Given the description of an element on the screen output the (x, y) to click on. 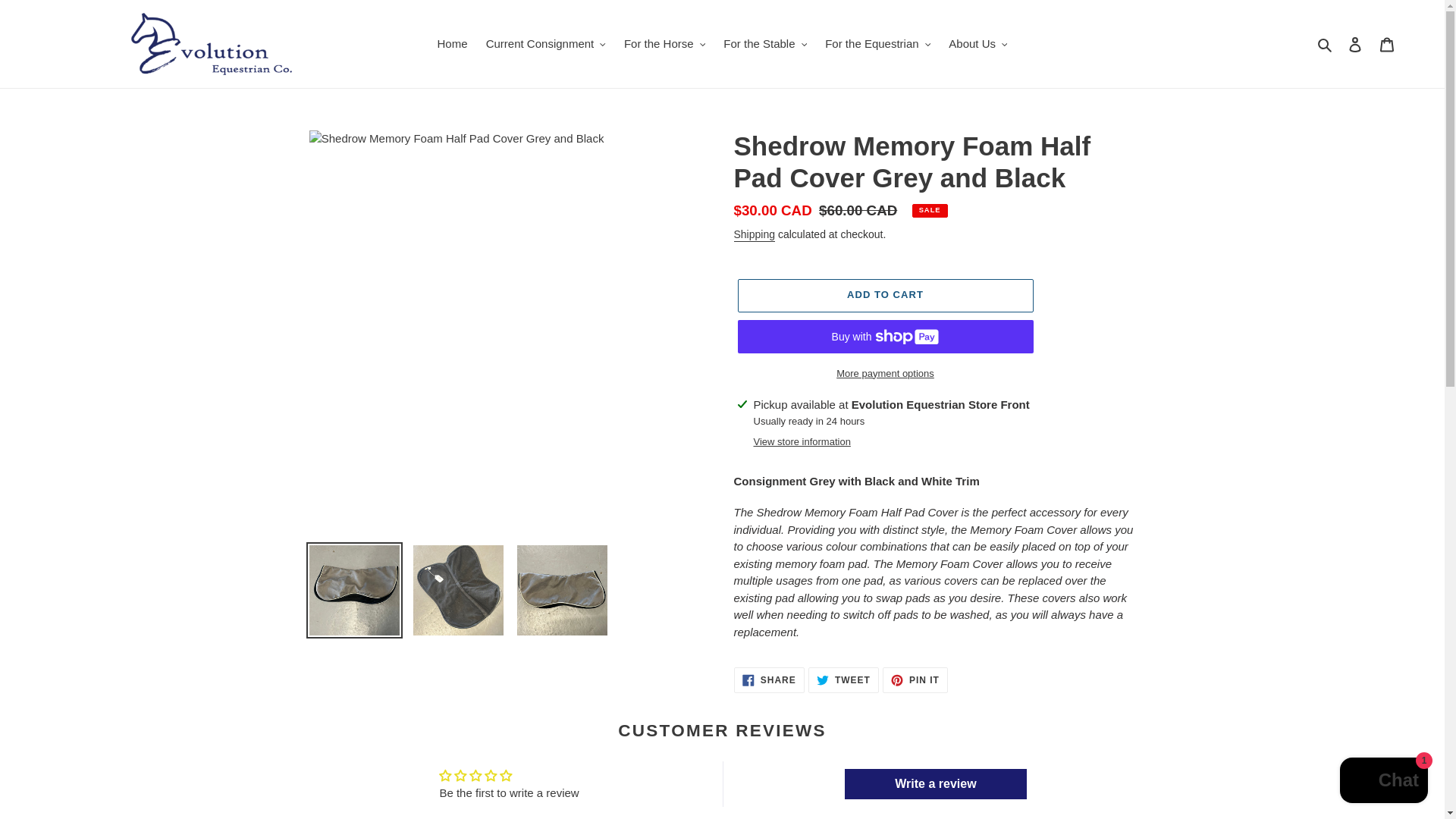
Home (451, 44)
Shopify online store chat (1383, 781)
For the Horse (664, 44)
Current Consignment (545, 44)
